Given the description of an element on the screen output the (x, y) to click on. 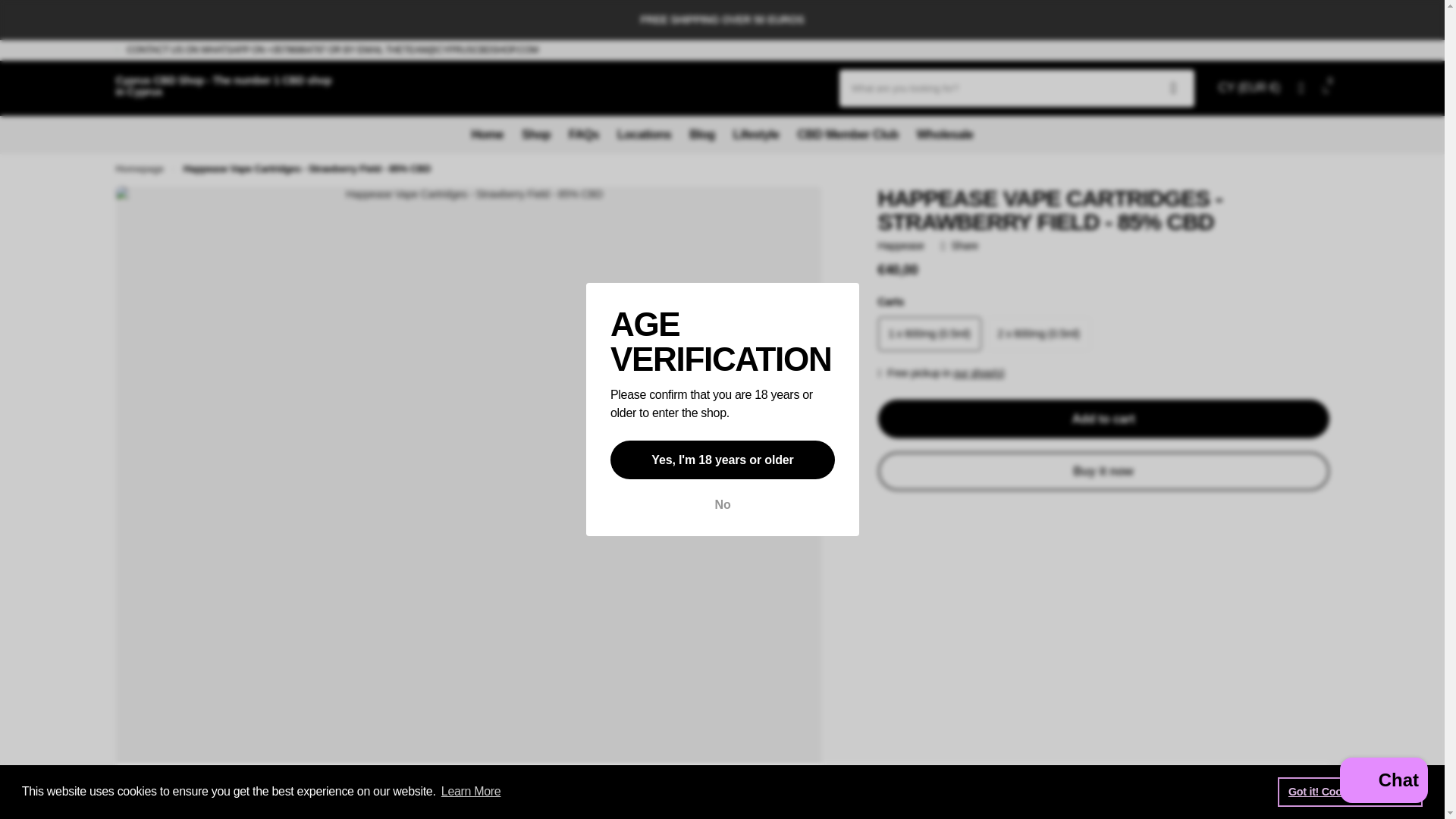
Learn More (471, 791)
Got it! Cookies nom nom (1350, 791)
Home (139, 168)
Shopify online store chat (1383, 781)
